Given the description of an element on the screen output the (x, y) to click on. 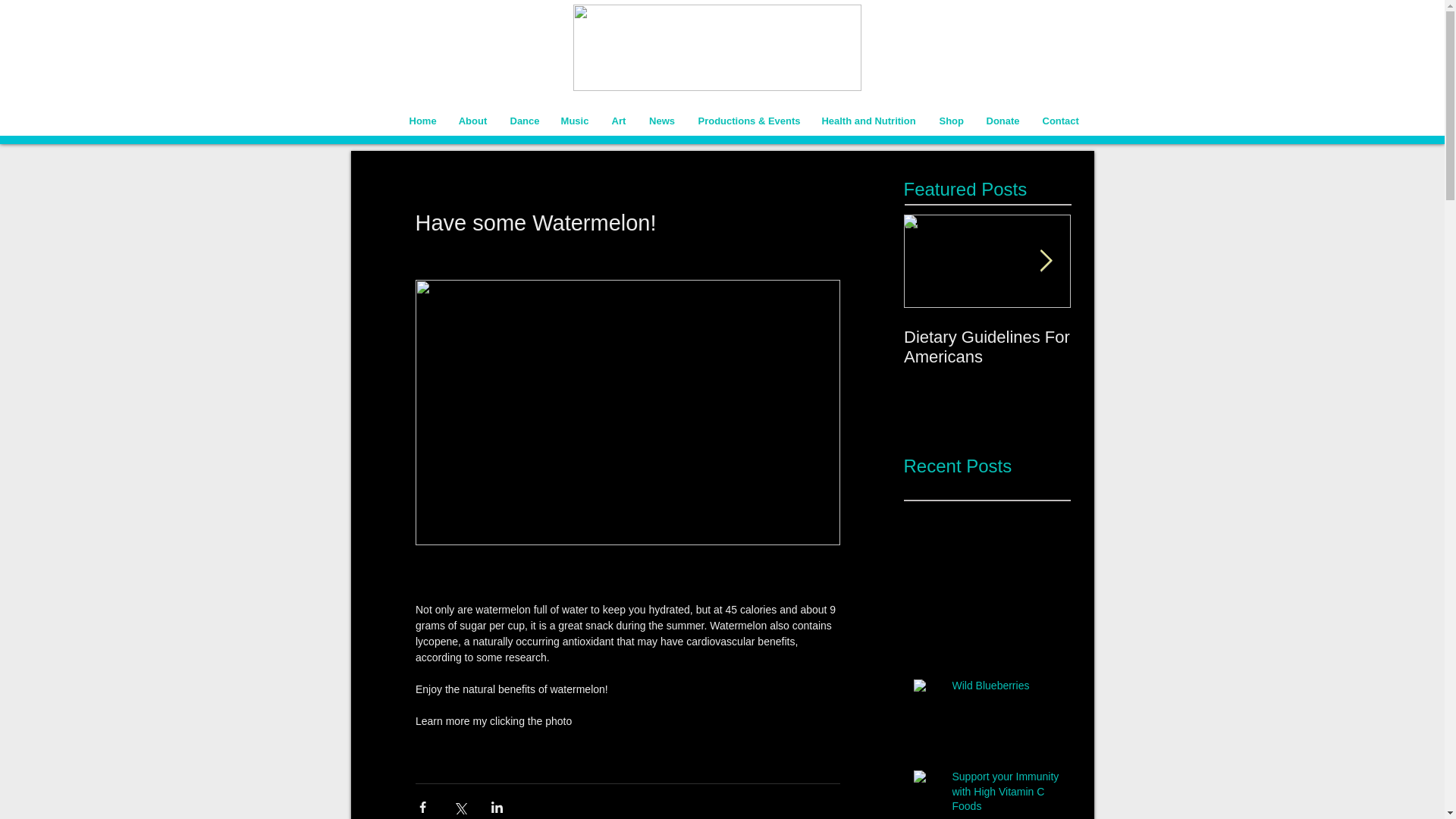
Wild Blueberries (1006, 689)
Home (421, 120)
Shop (951, 120)
Donate (1002, 120)
Health and Nutrition (868, 120)
Dietary Guidelines For Americans (987, 346)
Happy National Grapefruit Month (1153, 346)
News (661, 120)
Support your Immunity with High Vitamin C Foods (1006, 794)
